Given the description of an element on the screen output the (x, y) to click on. 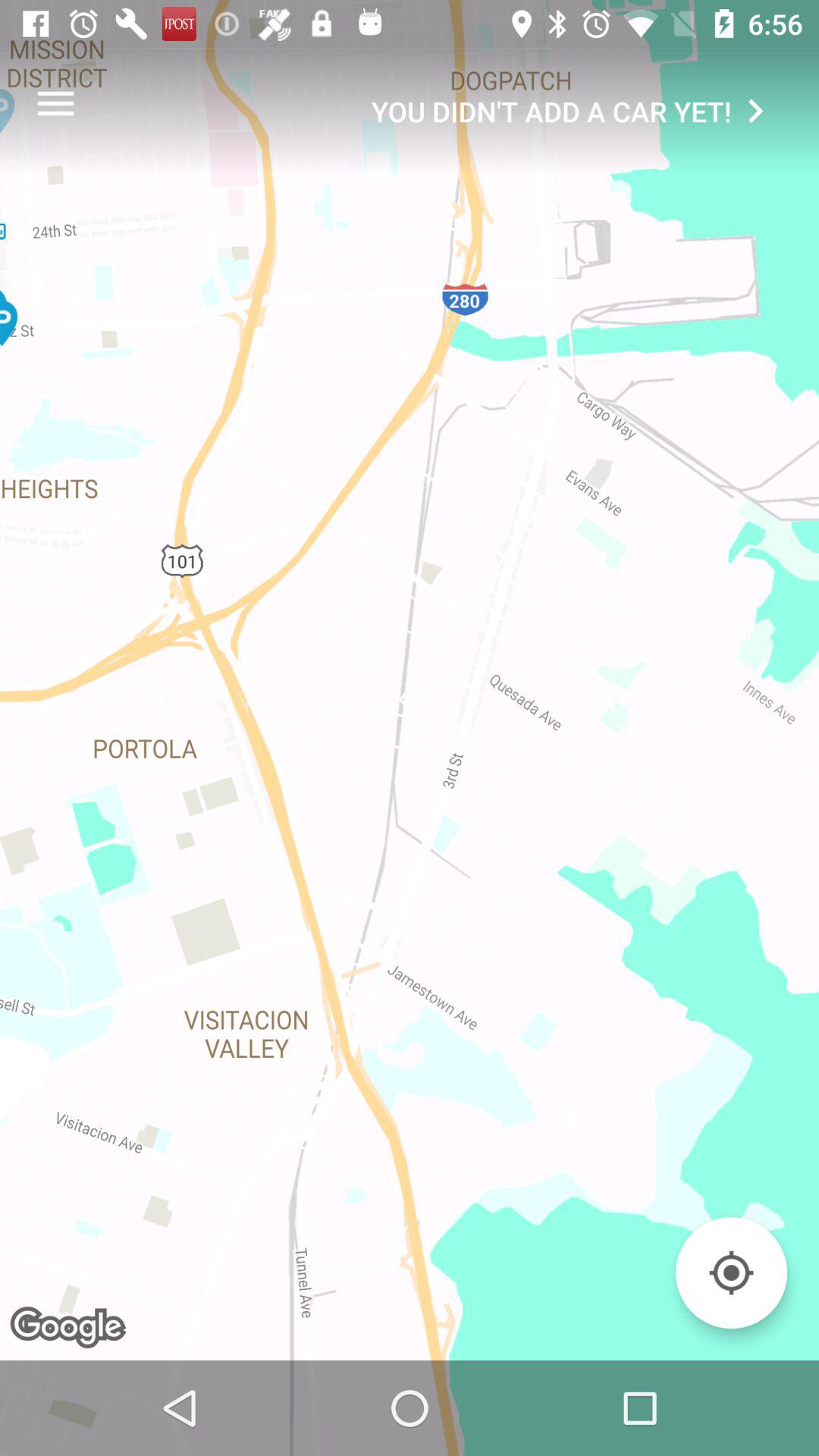
location button (731, 1272)
